Given the description of an element on the screen output the (x, y) to click on. 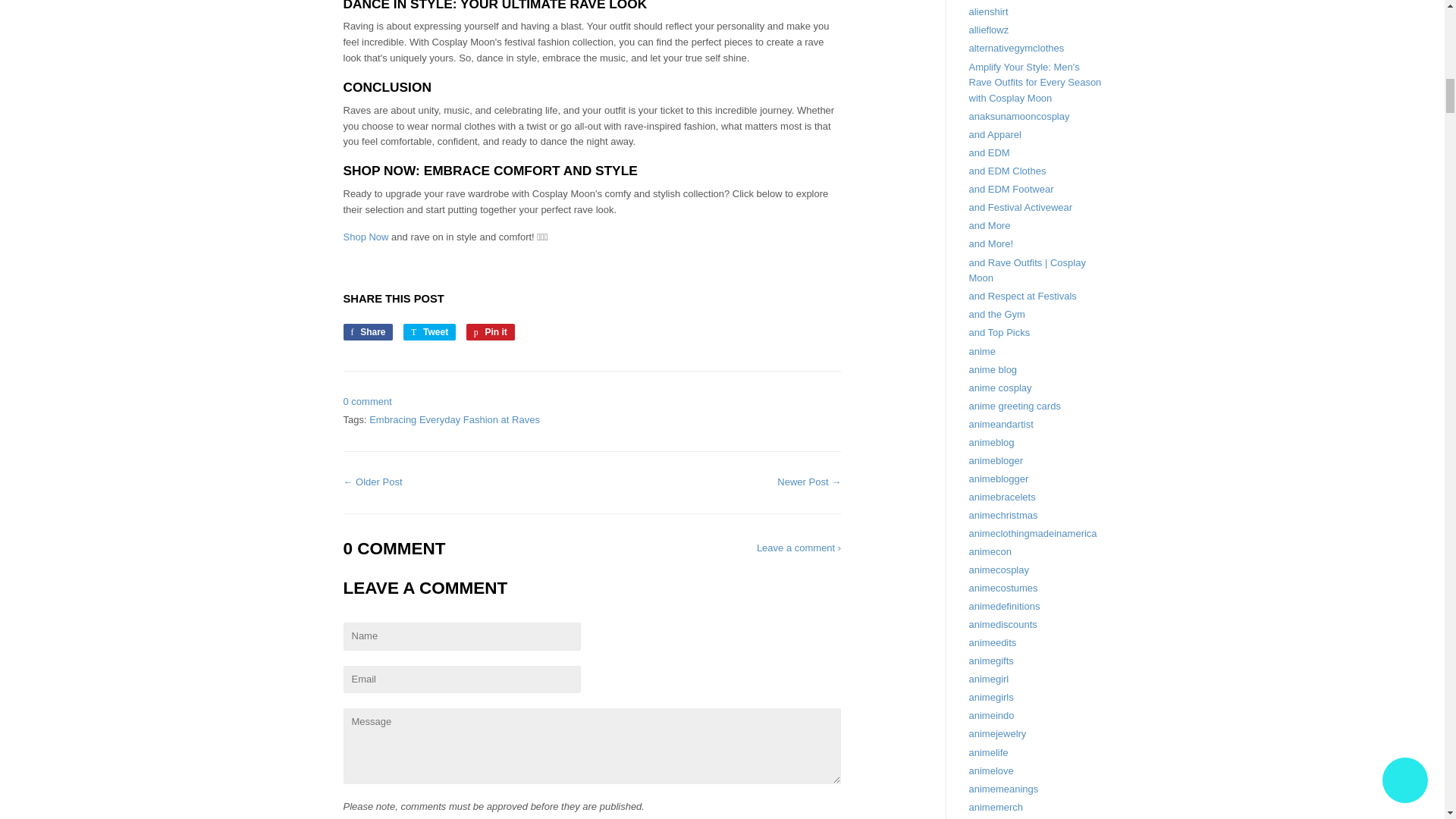
Pin on Pinterest (490, 331)
Tweet on Twitter (429, 331)
what to wear to a rave (365, 236)
Share on Facebook (367, 331)
